Given the description of an element on the screen output the (x, y) to click on. 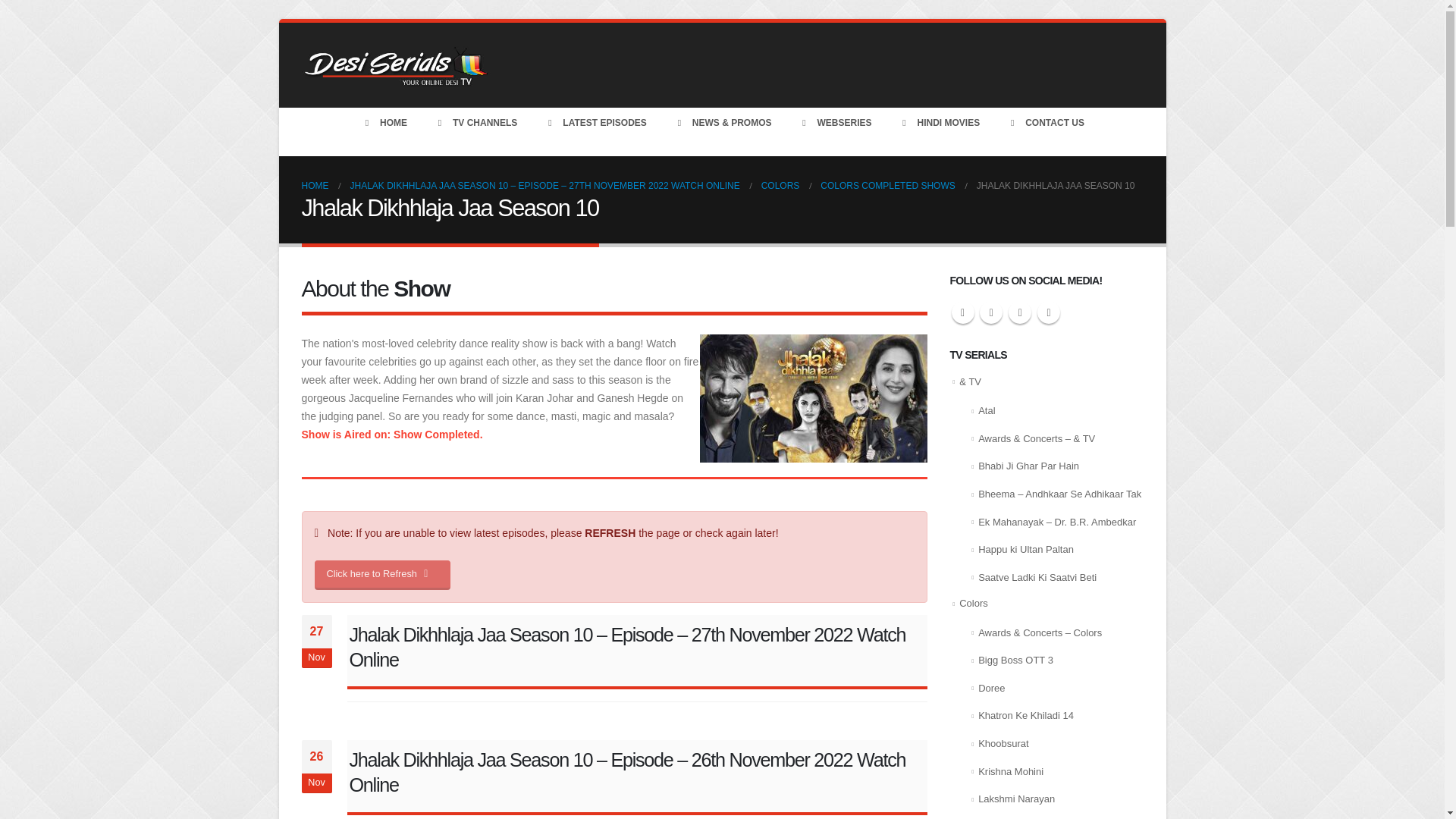
Click here to Refresh (381, 574)
COLORS COMPLETED SHOWS (888, 185)
Twitter (962, 312)
Linkedin (1047, 312)
Pinterest (991, 312)
HOME (315, 185)
LATEST EPISODES (594, 122)
Desi-Serials.CC - Your online Desi TV (396, 64)
COLORS (780, 185)
Youtube (1019, 312)
